Given the description of an element on the screen output the (x, y) to click on. 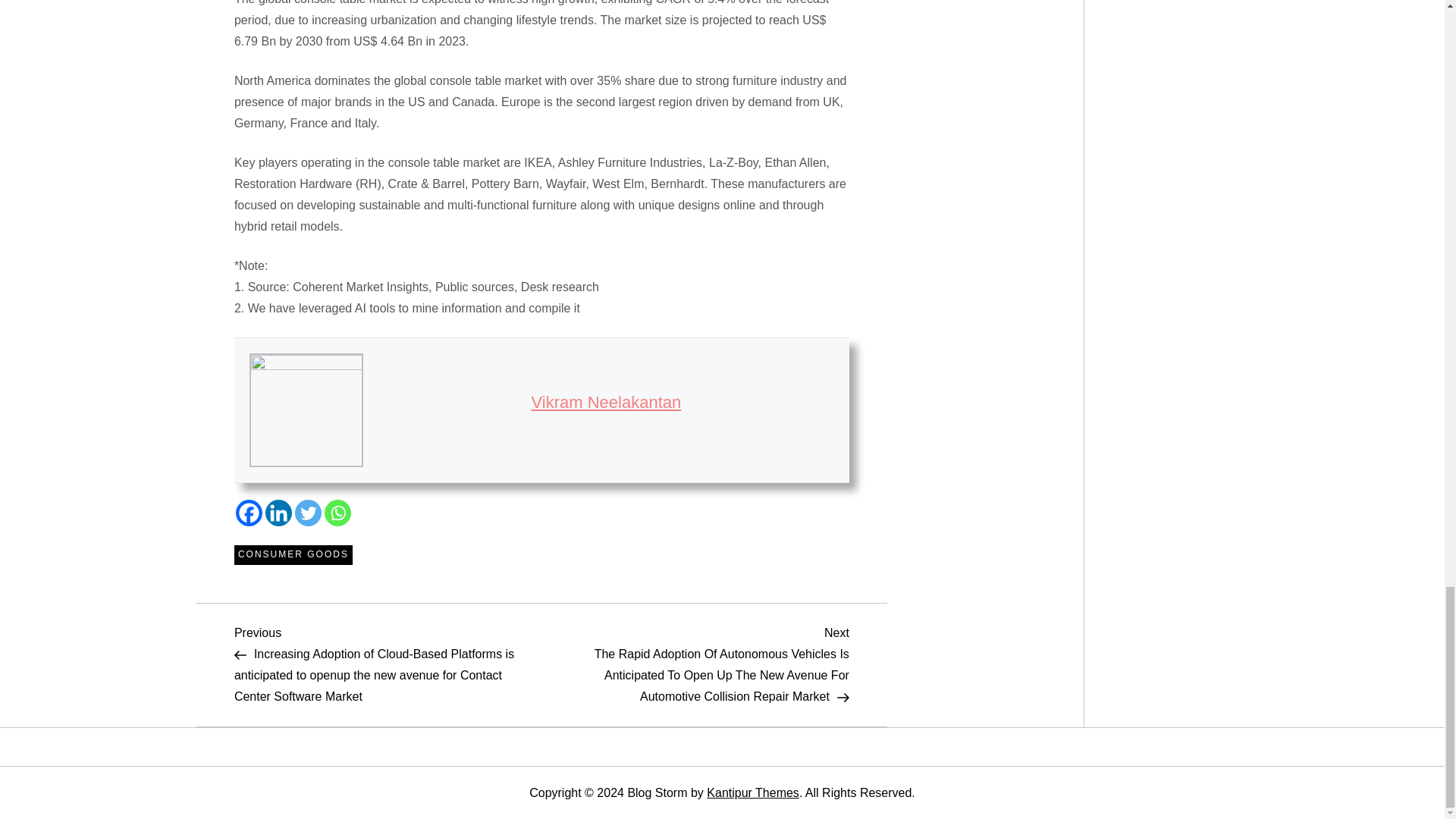
Facebook (248, 512)
Twitter (308, 512)
Vikram Neelakantan (606, 402)
Kantipur Themes (752, 792)
CONSUMER GOODS (293, 555)
Linkedin (278, 512)
Whatsapp (337, 512)
